Given the description of an element on the screen output the (x, y) to click on. 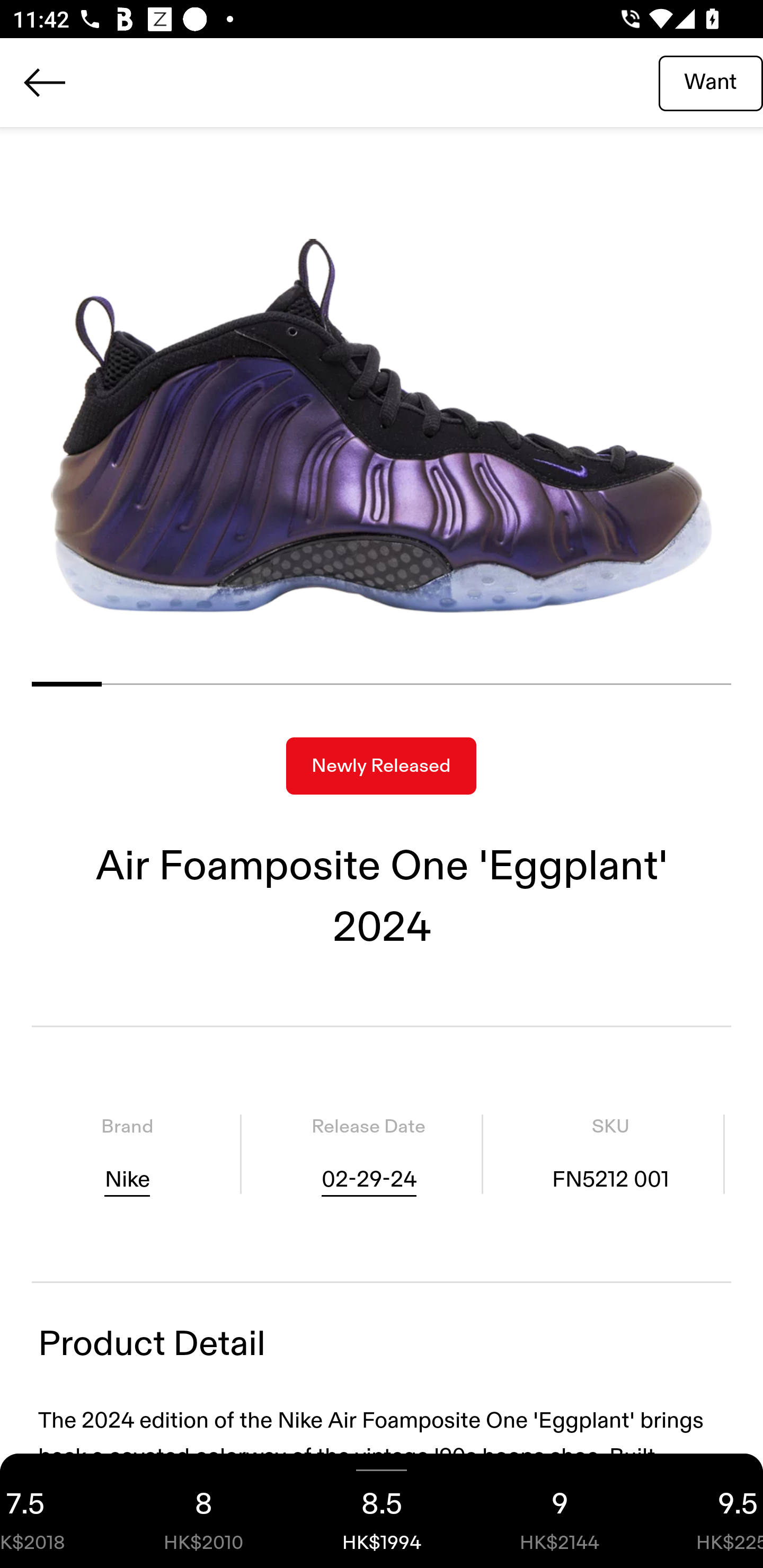
Want (710, 82)
Newly Released (381, 765)
Brand Nike (126, 1153)
Release Date 02-29-24 (368, 1153)
SKU FN5212 001 (609, 1153)
7.5 HK$2018 (57, 1510)
8 HK$2010 (203, 1510)
8.5 HK$1994 (381, 1510)
9 HK$2144 (559, 1510)
9.5 HK$2255 (705, 1510)
